Given the description of an element on the screen output the (x, y) to click on. 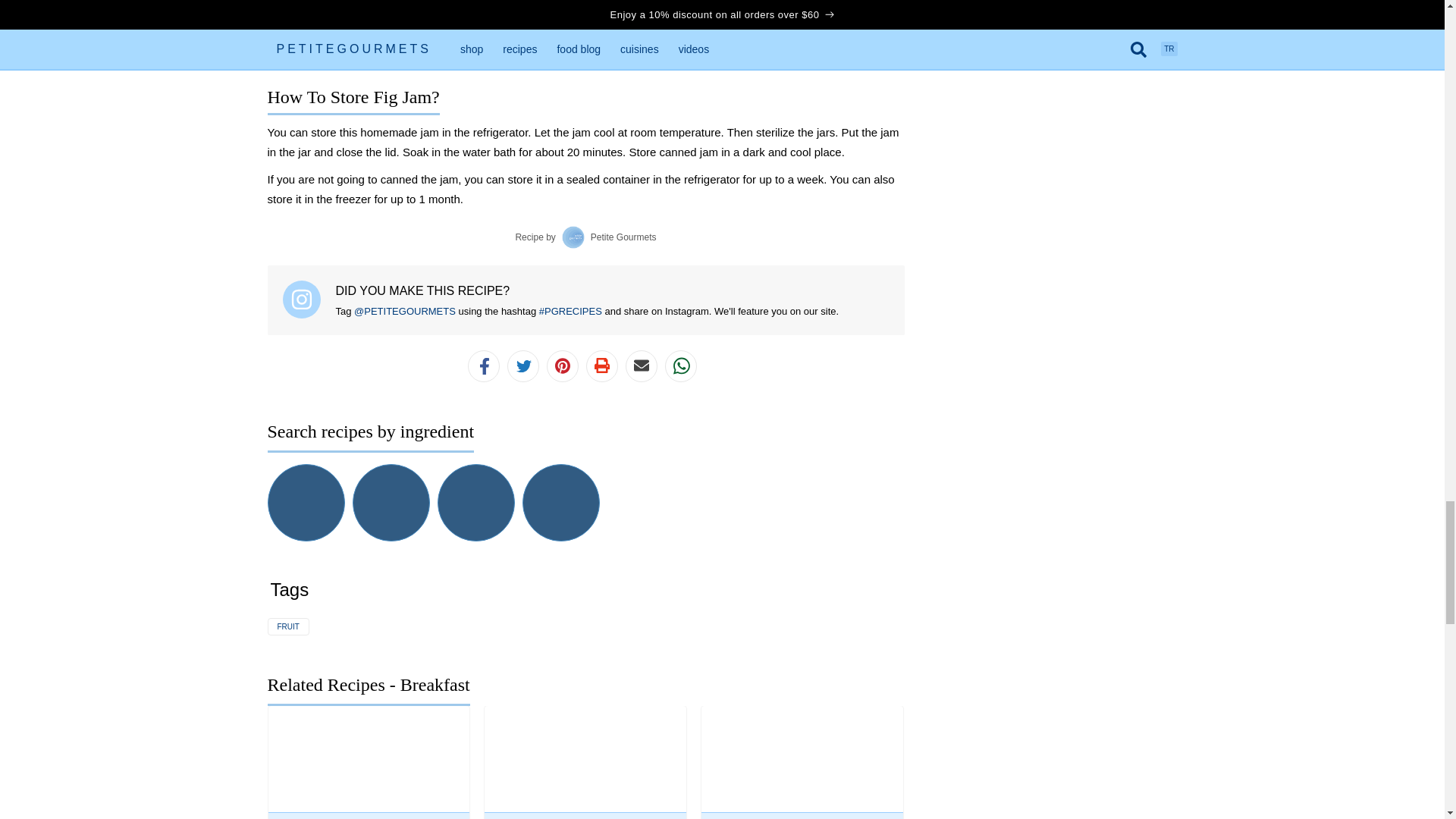
Italian Zeppole Doughnuts (348, 40)
Classic French Beignets (343, 13)
